Given the description of an element on the screen output the (x, y) to click on. 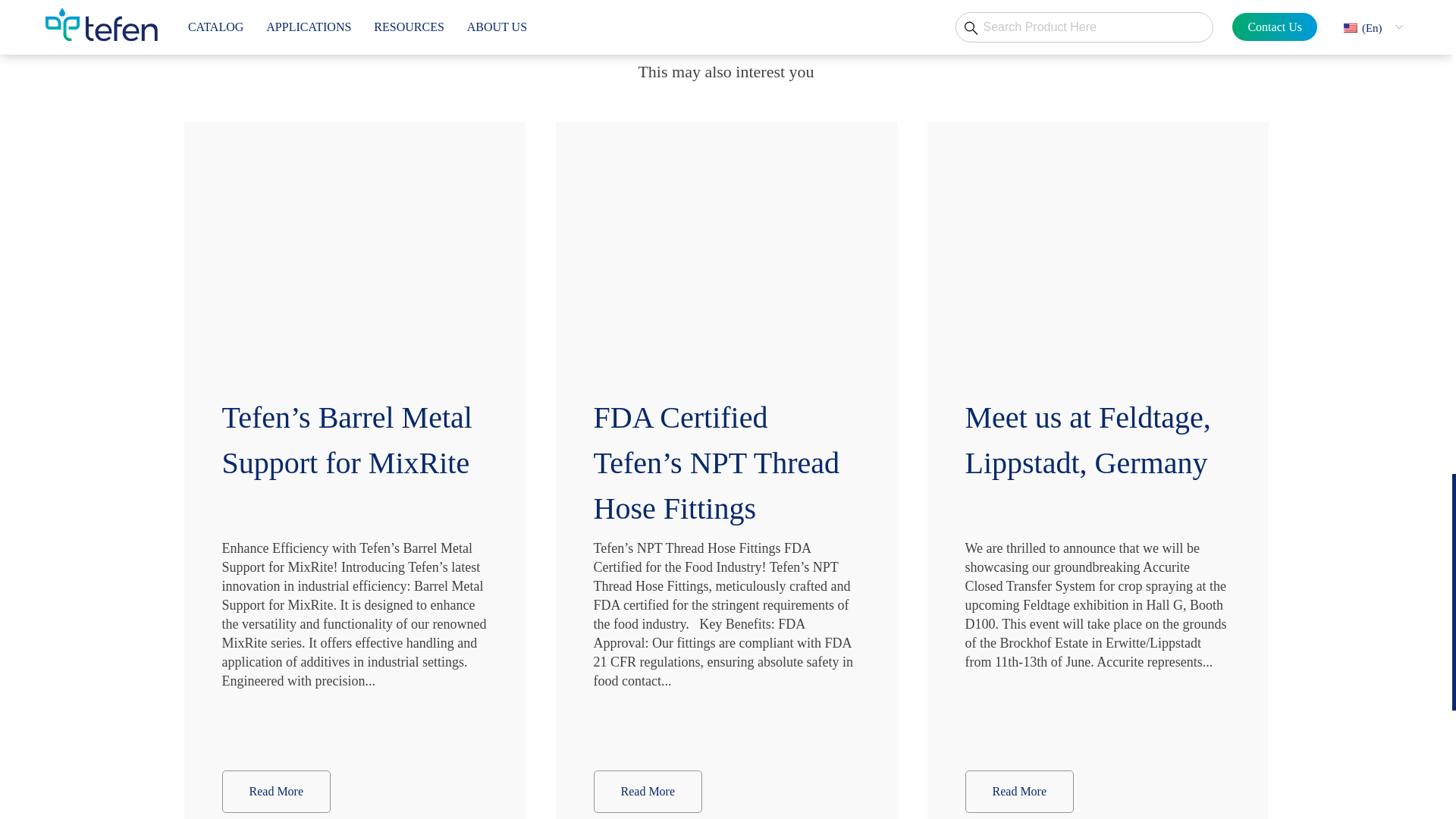
Meet us at Feldtage, Lippstadt, Germany (1097, 447)
Read More (646, 791)
Read More (1018, 791)
Read More (275, 791)
